Given the description of an element on the screen output the (x, y) to click on. 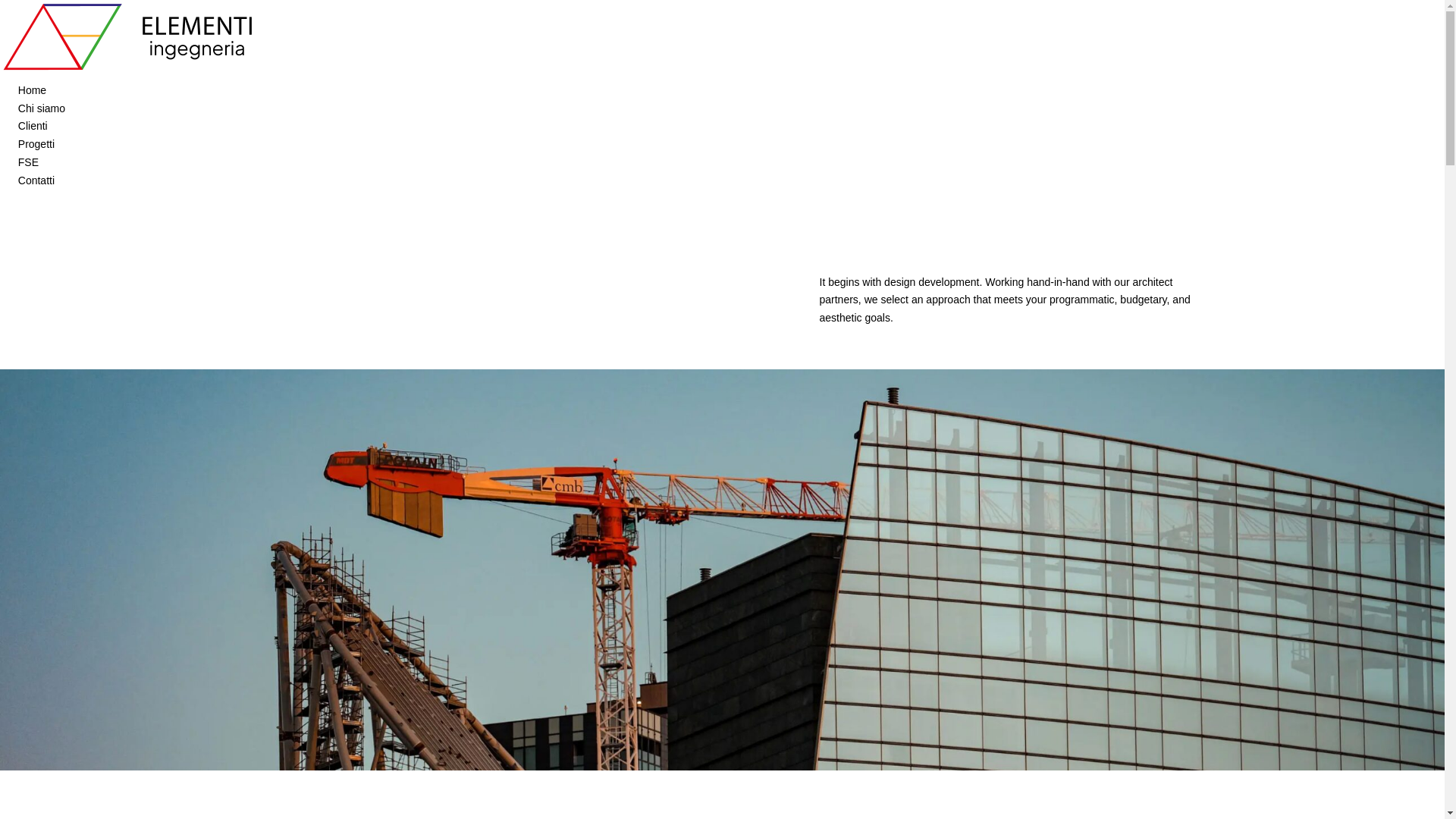
Home (31, 90)
Contatti (36, 180)
FSE (28, 162)
Clienti (32, 125)
Chi siamo (41, 108)
Progetti (36, 143)
Elementi Ingegneria (131, 71)
